Given the description of an element on the screen output the (x, y) to click on. 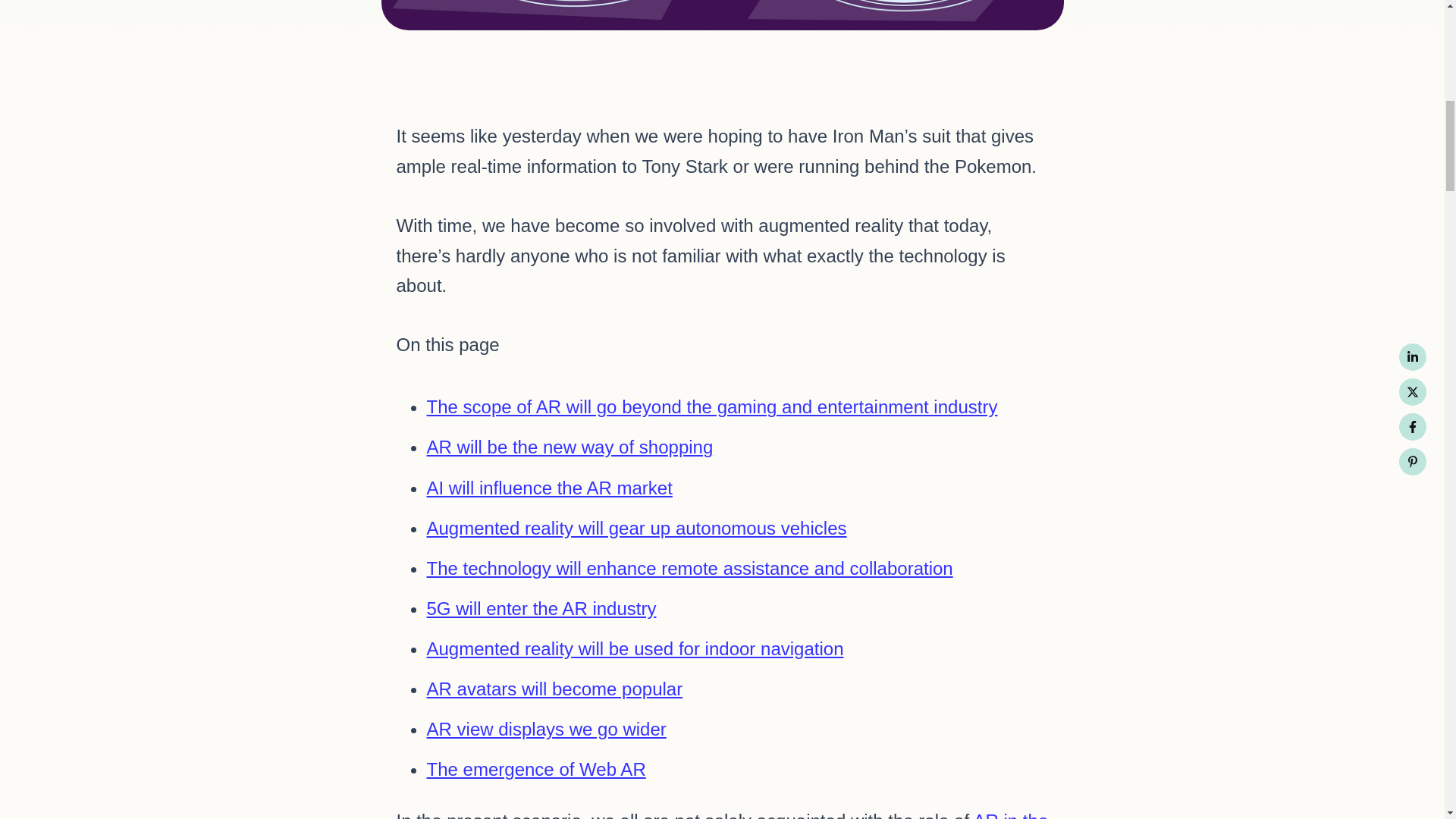
AR view displays we go wider (545, 729)
Augmented reality will be used for indoor navigation (634, 648)
AR avatars will become popular (554, 688)
Augmented reality will gear up autonomous vehicles (635, 527)
AR will be the new way of shopping (569, 446)
AI will influence the AR market (548, 487)
5G will enter the AR industry (541, 608)
